Given the description of an element on the screen output the (x, y) to click on. 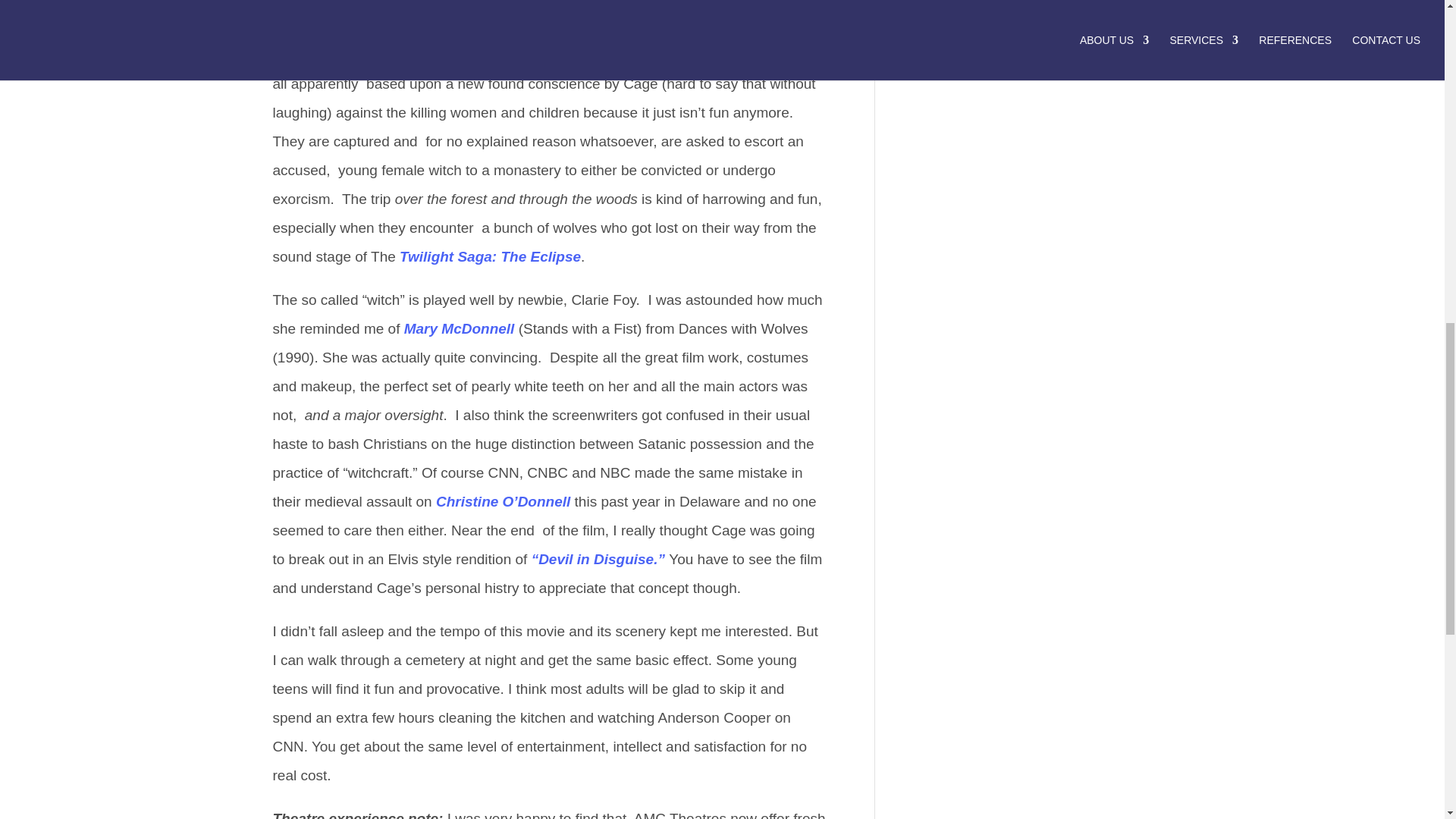
Mary McDonnell (461, 328)
Twilight Saga: The Eclipse (489, 256)
